Given the description of an element on the screen output the (x, y) to click on. 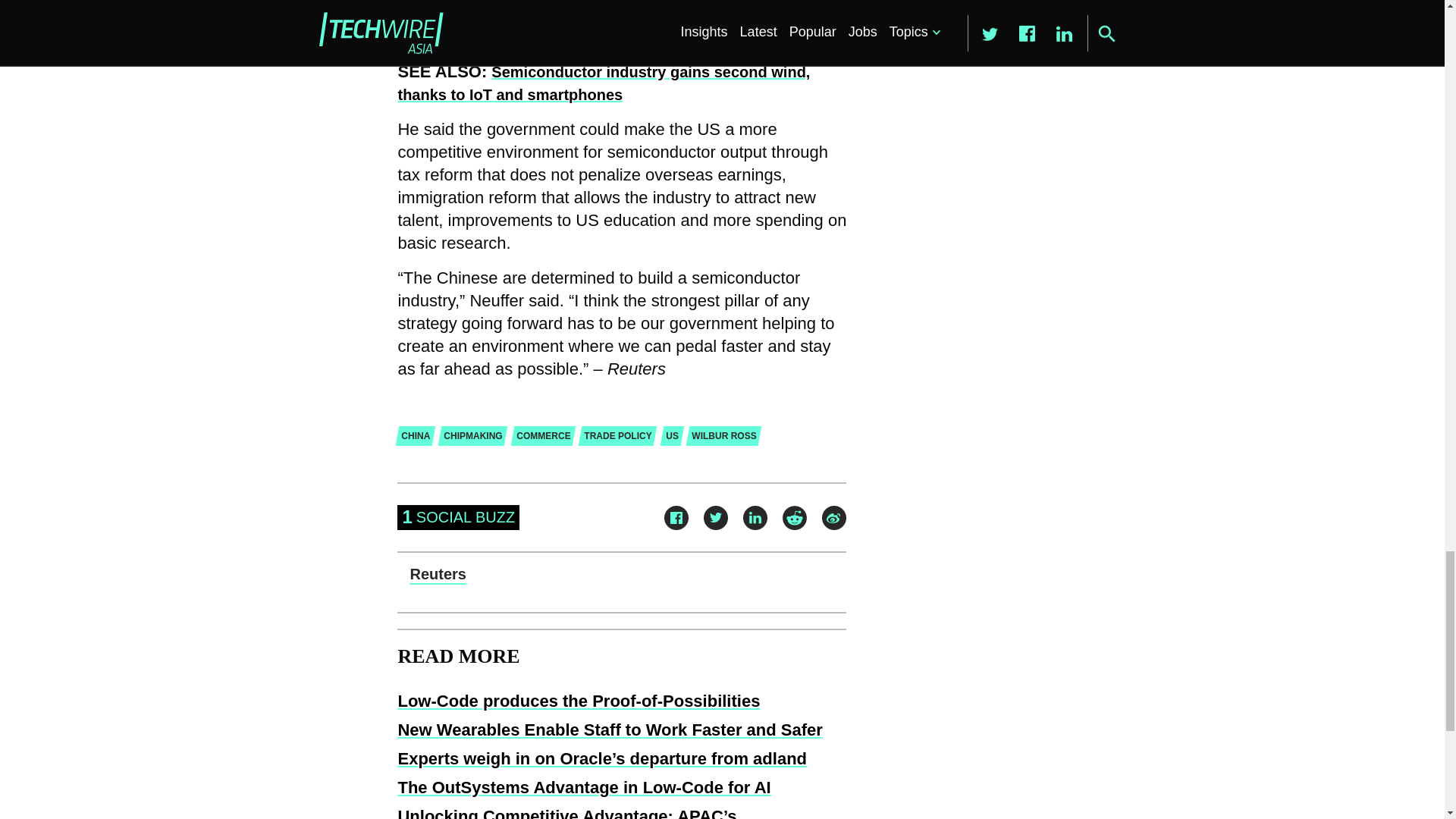
Posts by Reuters (437, 573)
